Given the description of an element on the screen output the (x, y) to click on. 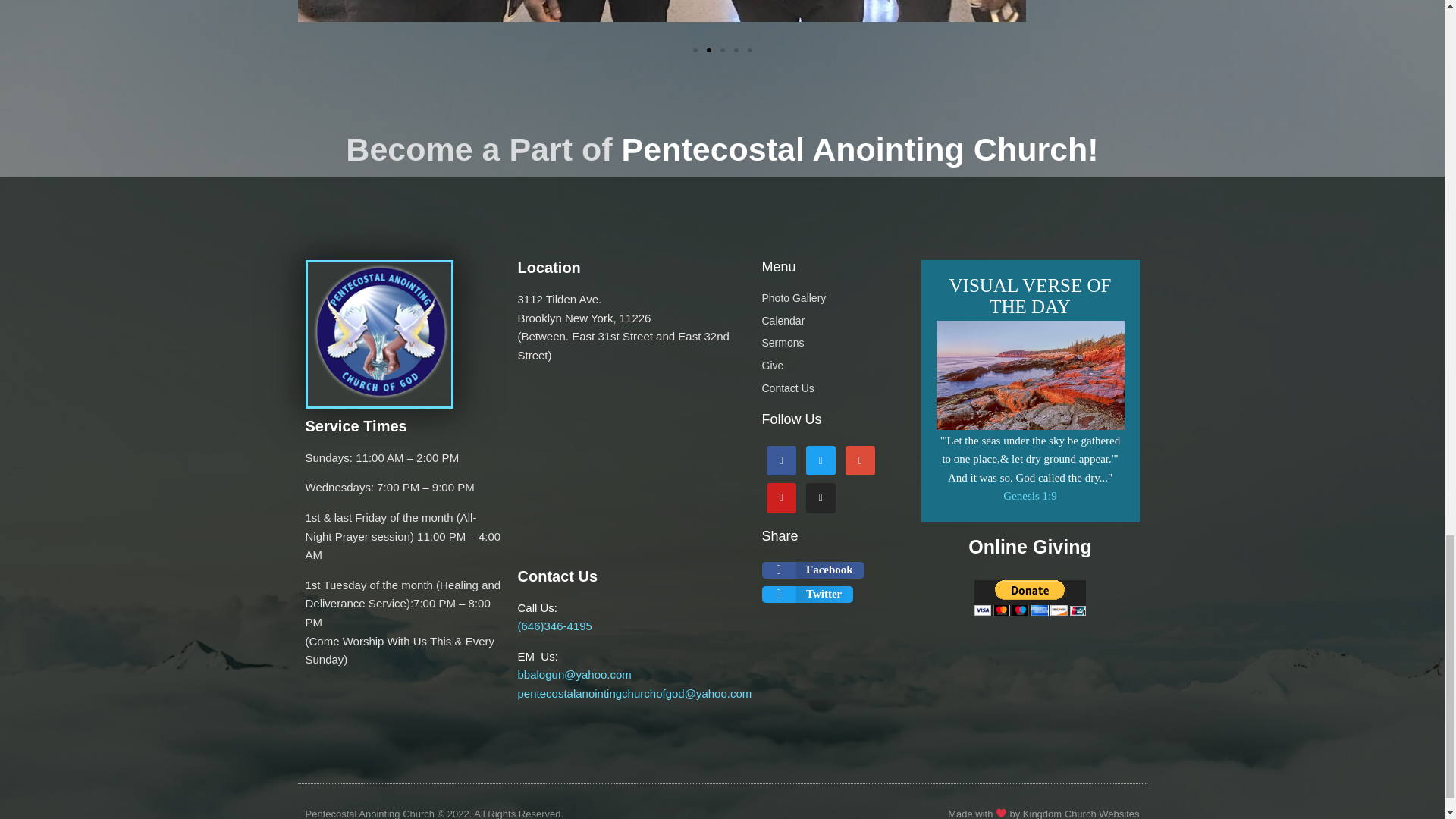
823 Nostrand Avenue Brooklyn, NY 11225 (630, 467)
